Given the description of an element on the screen output the (x, y) to click on. 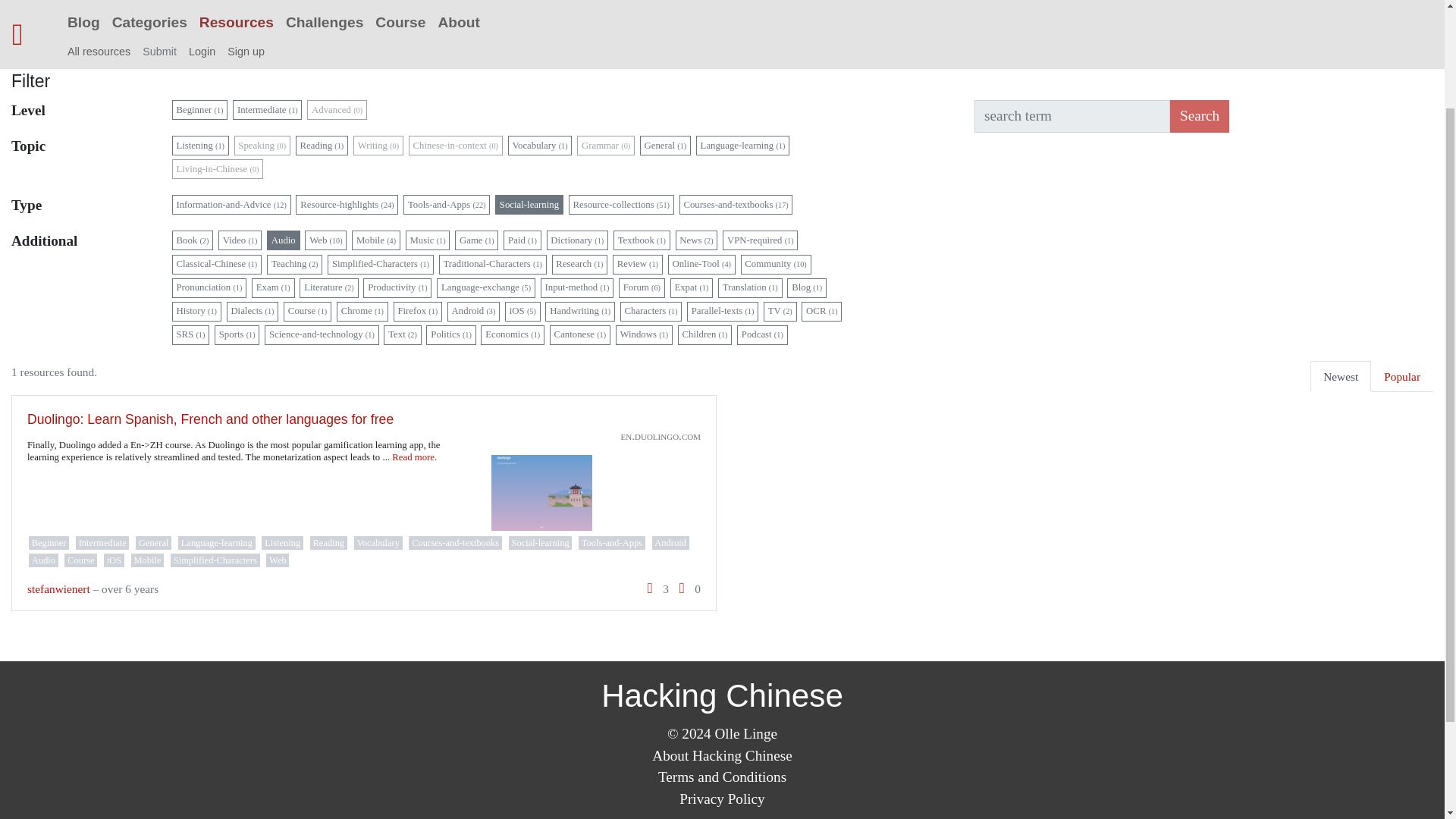
Like story (649, 587)
Audio (282, 240)
Discussion on Hackingchinese (681, 587)
Social-learning (529, 204)
